Given the description of an element on the screen output the (x, y) to click on. 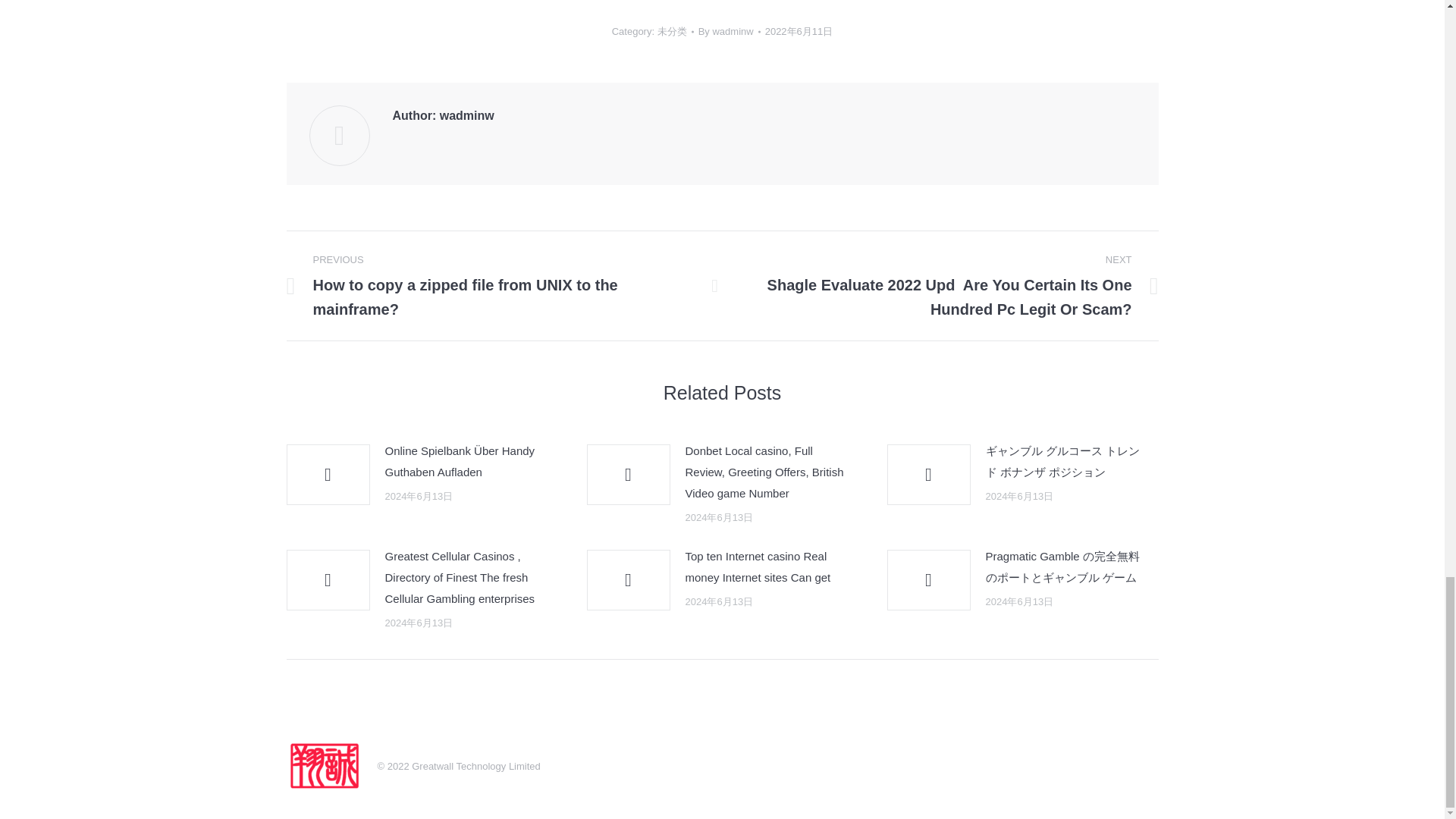
View all posts by wadminw (729, 31)
Top ten Internet casino Real money Internet sites Can get (766, 567)
By wadminw (729, 31)
